Given the description of an element on the screen output the (x, y) to click on. 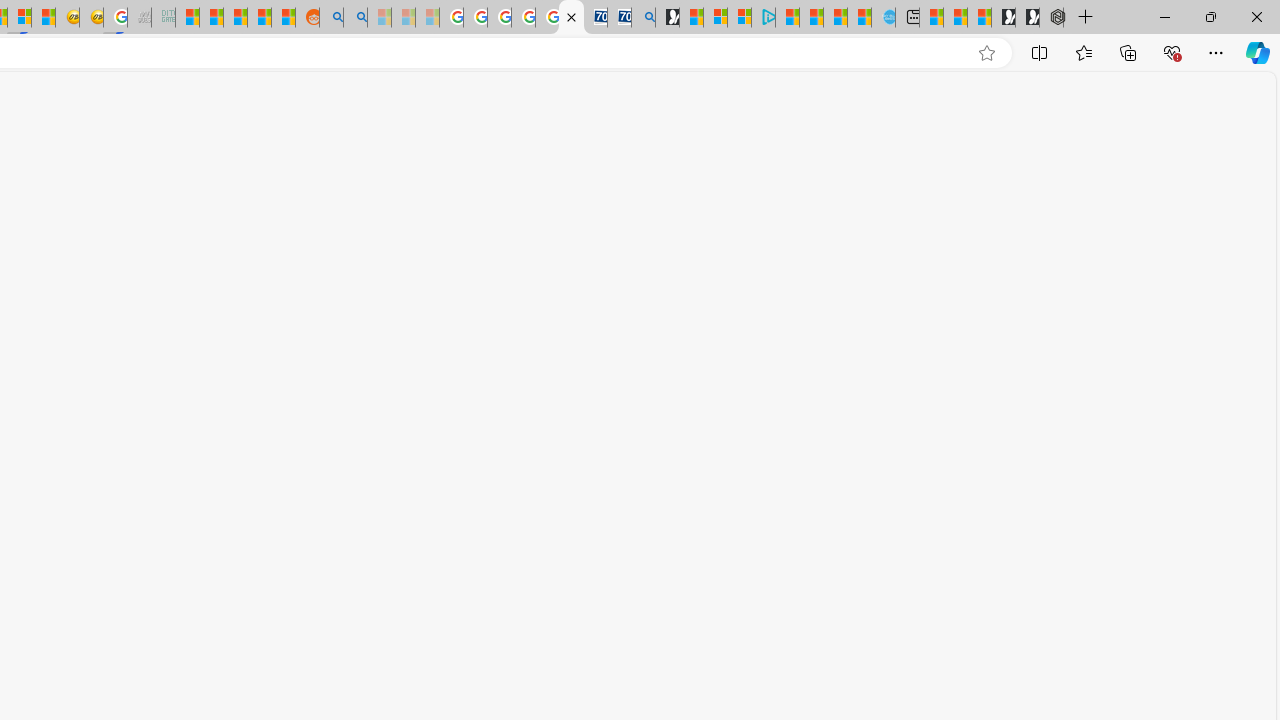
Bing Real Estate - Home sales and rental listings (643, 17)
